Given the description of an element on the screen output the (x, y) to click on. 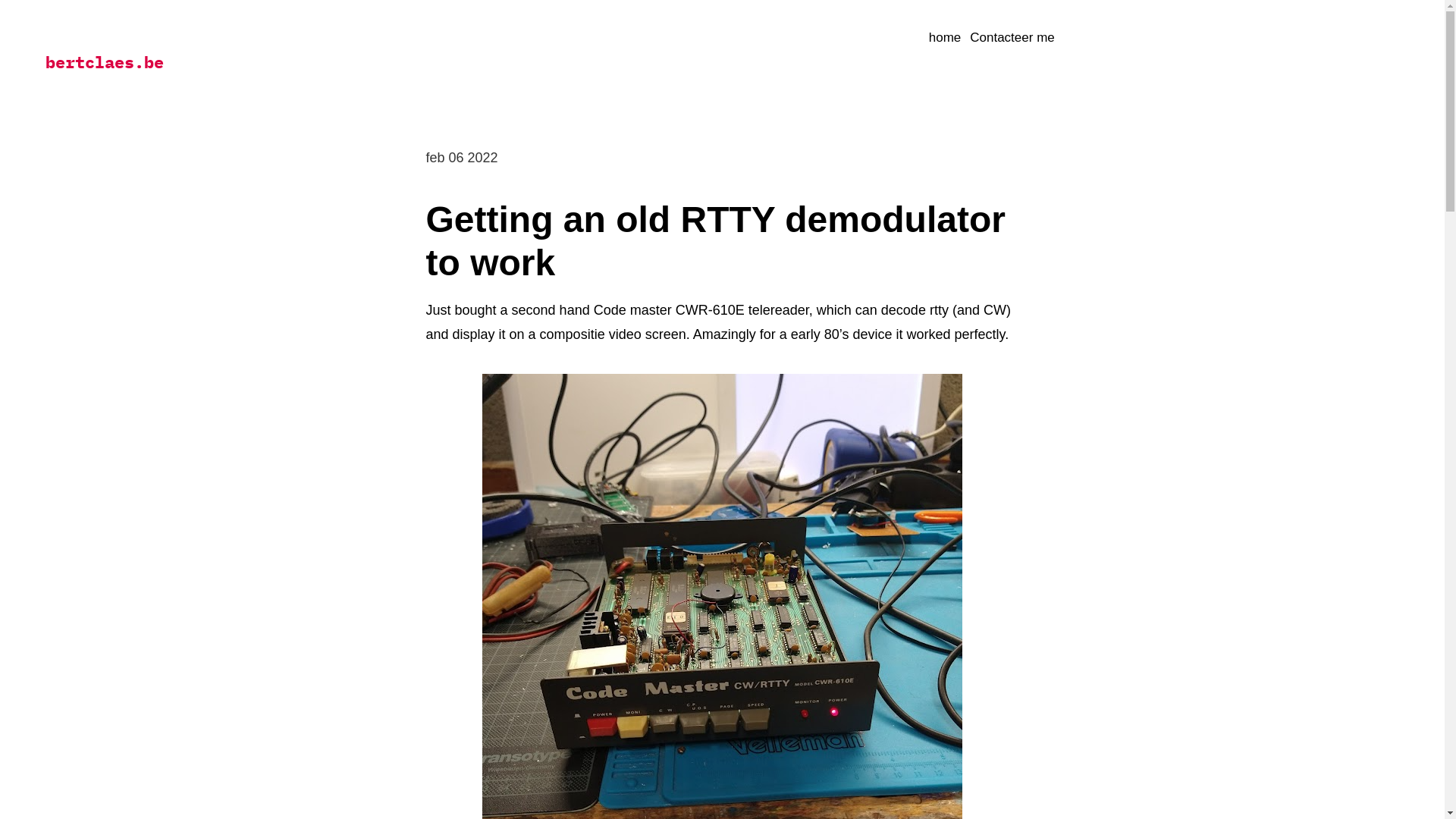
Contacteer me Element type: text (1011, 38)
home Element type: text (944, 38)
feb 06 2022 Element type: text (462, 157)
bertclaes.be Element type: text (104, 61)
